Given the description of an element on the screen output the (x, y) to click on. 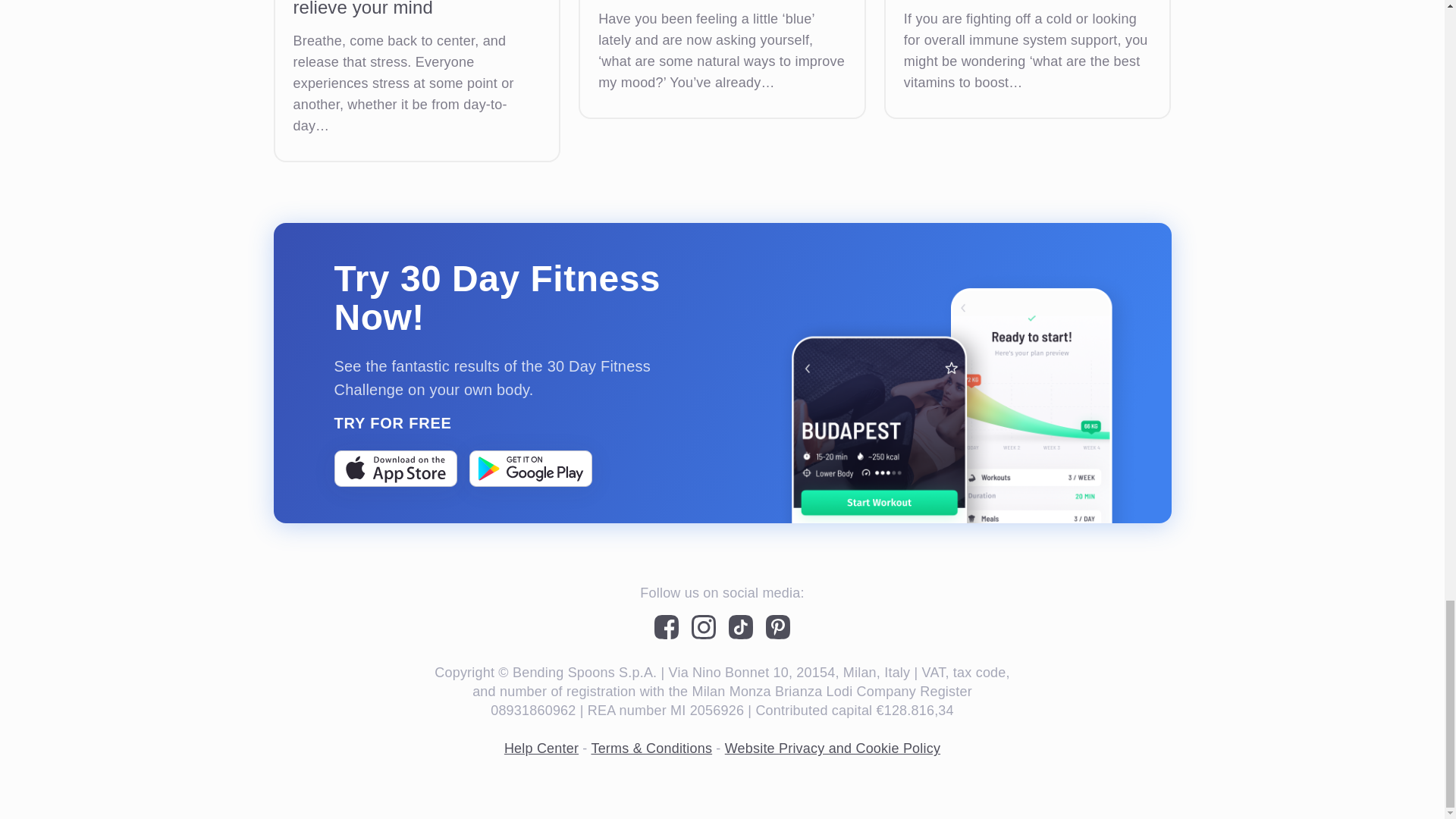
Help Center (540, 748)
Website Privacy and Cookie Policy (832, 748)
